Given the description of an element on the screen output the (x, y) to click on. 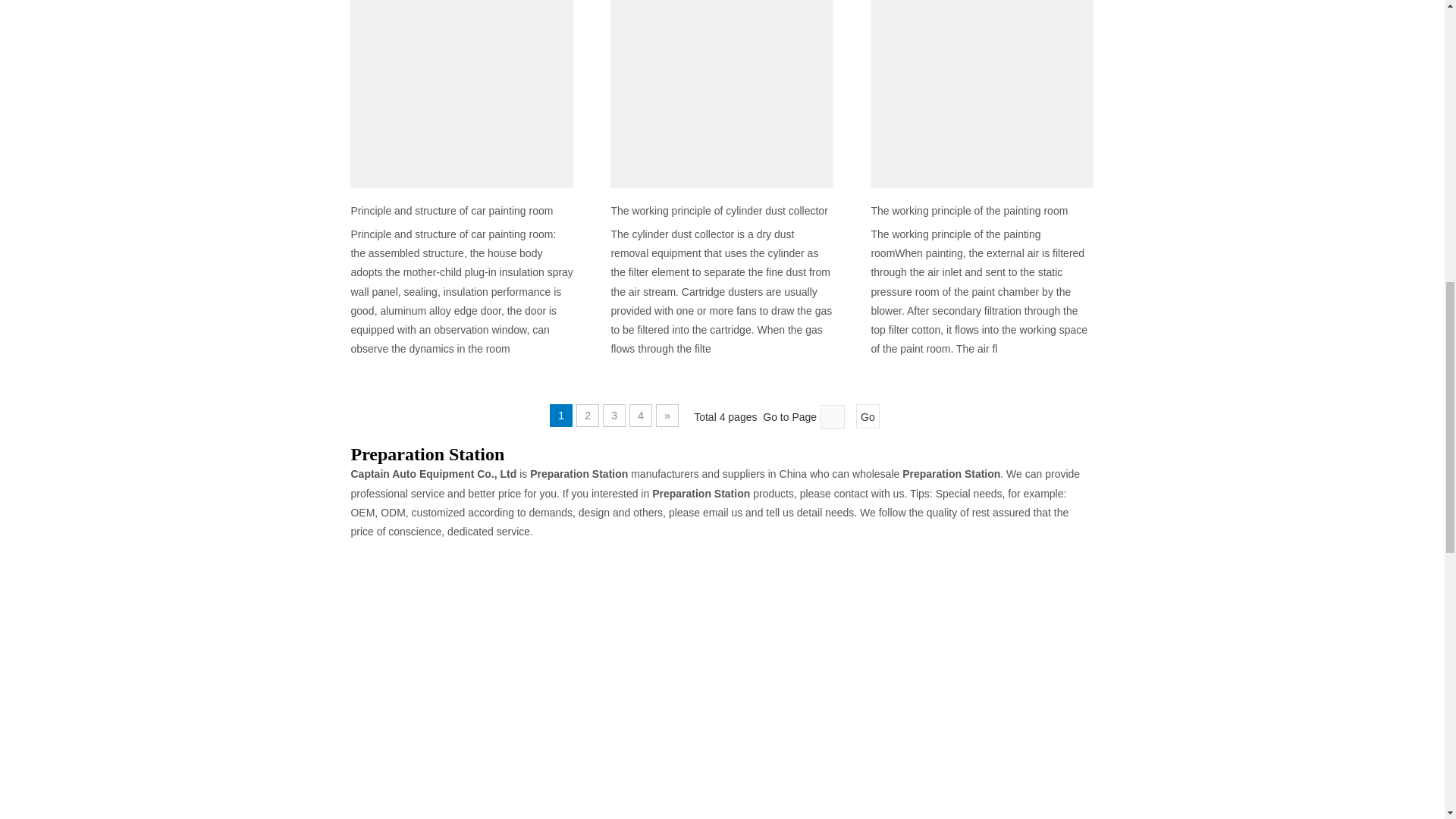
The working principle of the painting room (981, 210)
Principle and structure of car painting room (461, 210)
The working principle of cylinder dust collector (721, 210)
